Given the description of an element on the screen output the (x, y) to click on. 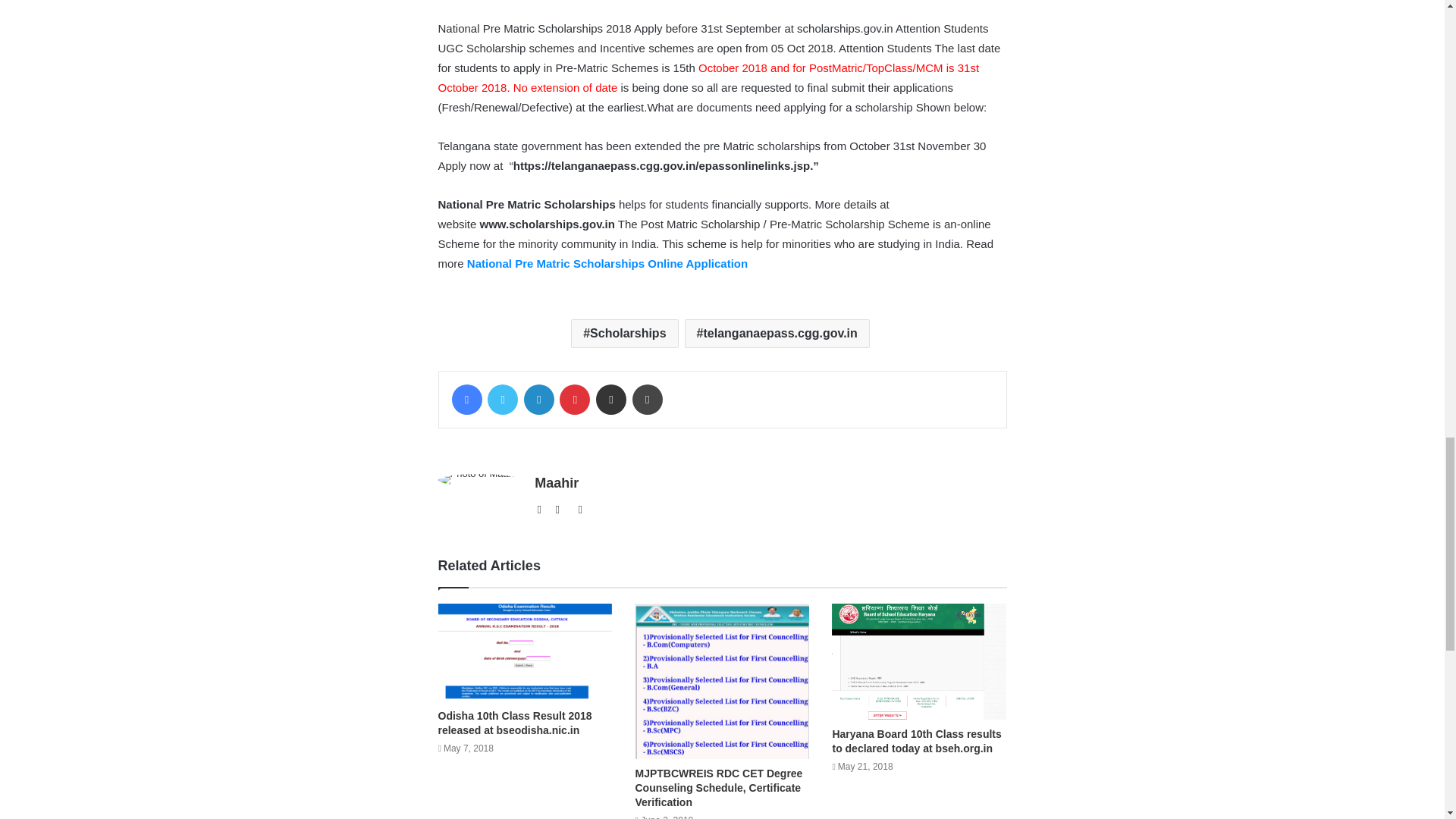
Facebook (466, 399)
Odisha 10th Class Result 2018 released at bseodisha.nic.in (515, 723)
Facebook (466, 399)
Pinterest (574, 399)
LinkedIn (539, 399)
Twitter (502, 399)
Scholarships (624, 333)
Twitter (502, 399)
Maahir (556, 482)
Print (646, 399)
National Pre Matric Scholarships Online Application (607, 263)
Facebook (561, 509)
LinkedIn (539, 399)
Twitter (579, 509)
telanganaepass.cgg.gov.in (776, 333)
